Given the description of an element on the screen output the (x, y) to click on. 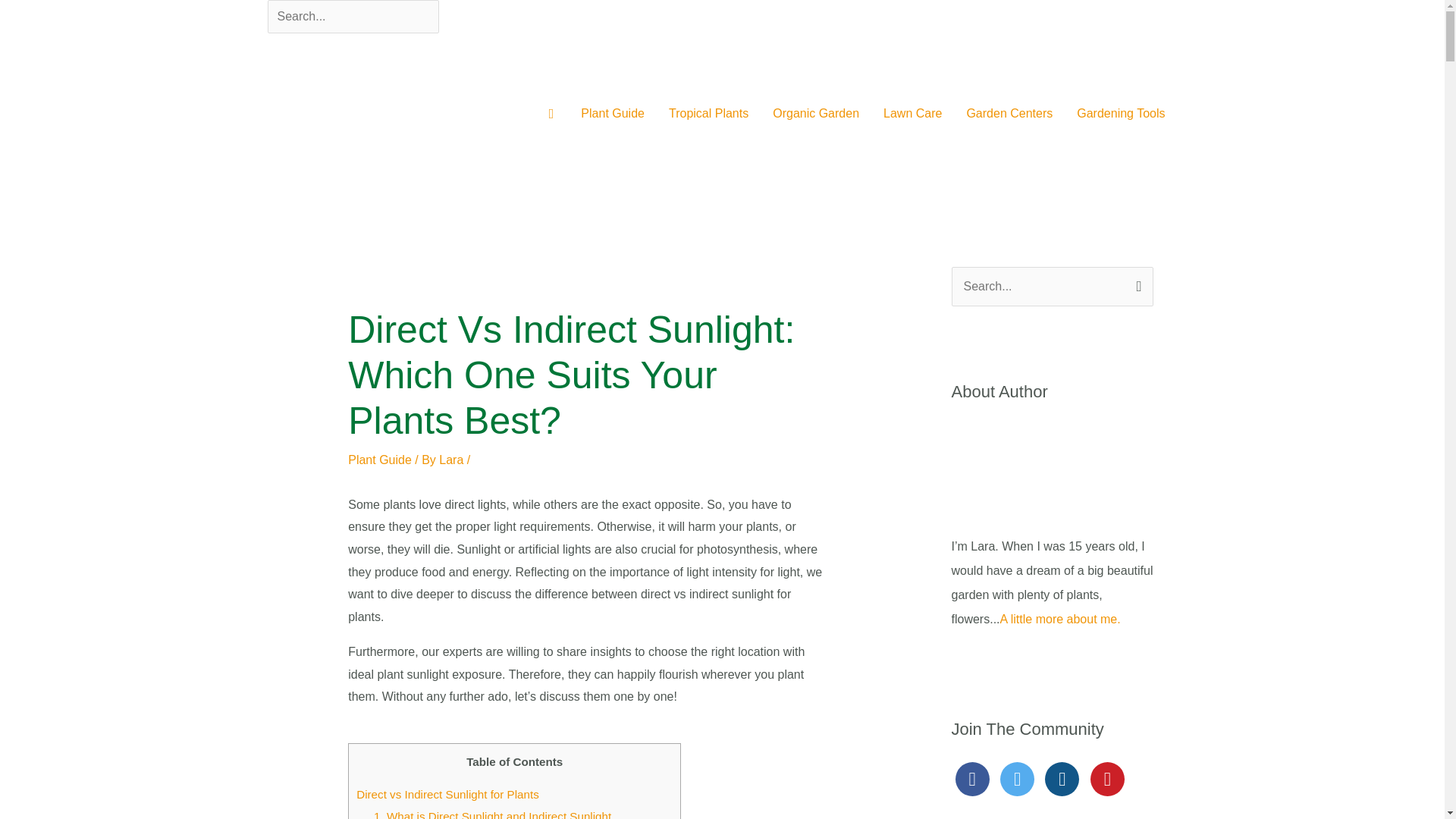
Search (1136, 282)
Gardening Tools (1120, 113)
Lara (452, 459)
Plant Guide (379, 459)
1. What is Direct Sunlight and Indirect Sunlight  (494, 814)
View all posts by Lara (452, 459)
Garden Centers (1008, 113)
Lawn Care (911, 113)
Organic Garden (815, 113)
Plant Guide (612, 113)
Search (1136, 282)
Direct vs Indirect Sunlight for Plants (447, 793)
Tropical Plants (708, 113)
